Given the description of an element on the screen output the (x, y) to click on. 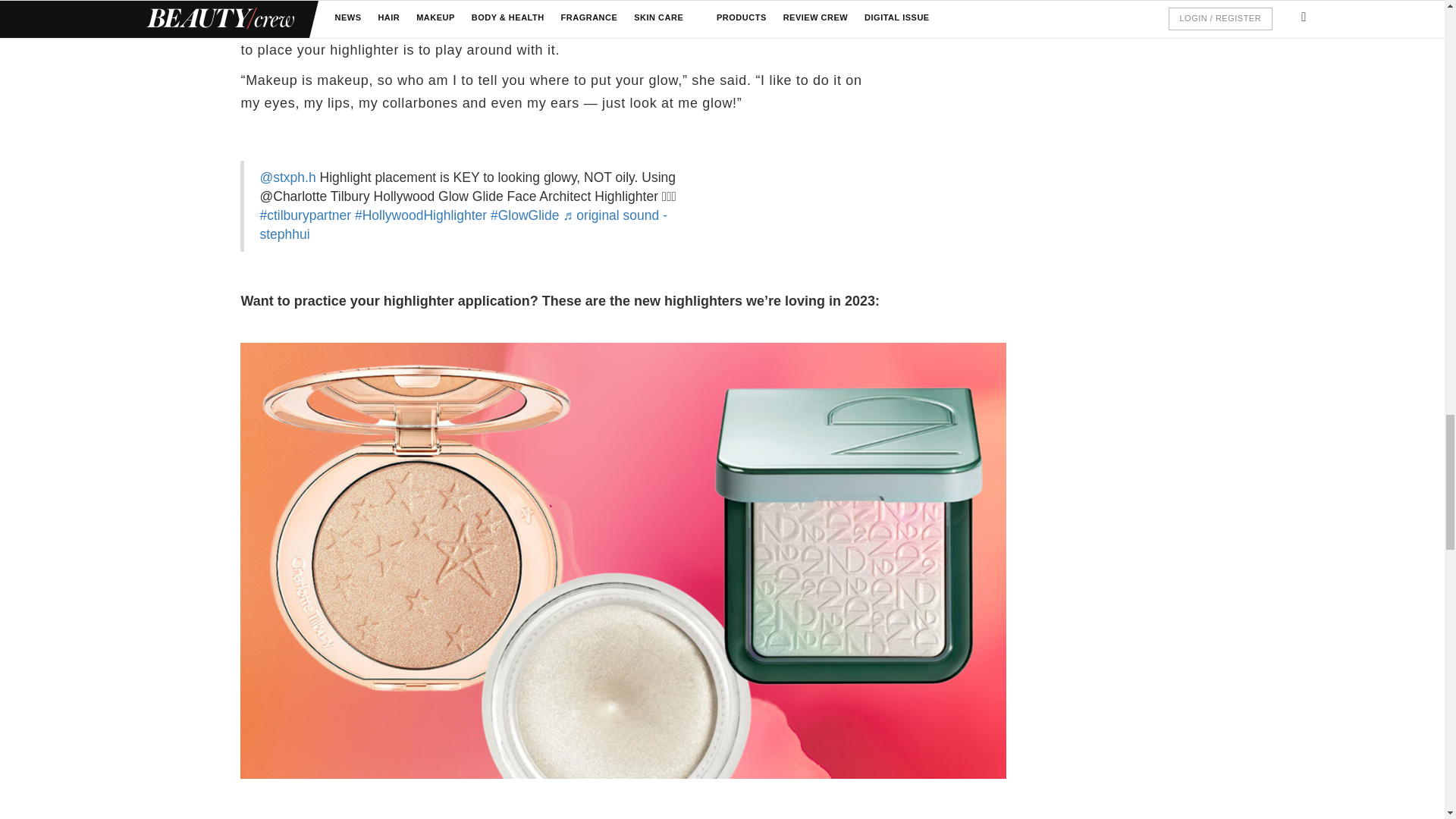
hollywoodhighlighter (420, 215)
ctilburypartner (304, 215)
glowglide (524, 215)
